Given the description of an element on the screen output the (x, y) to click on. 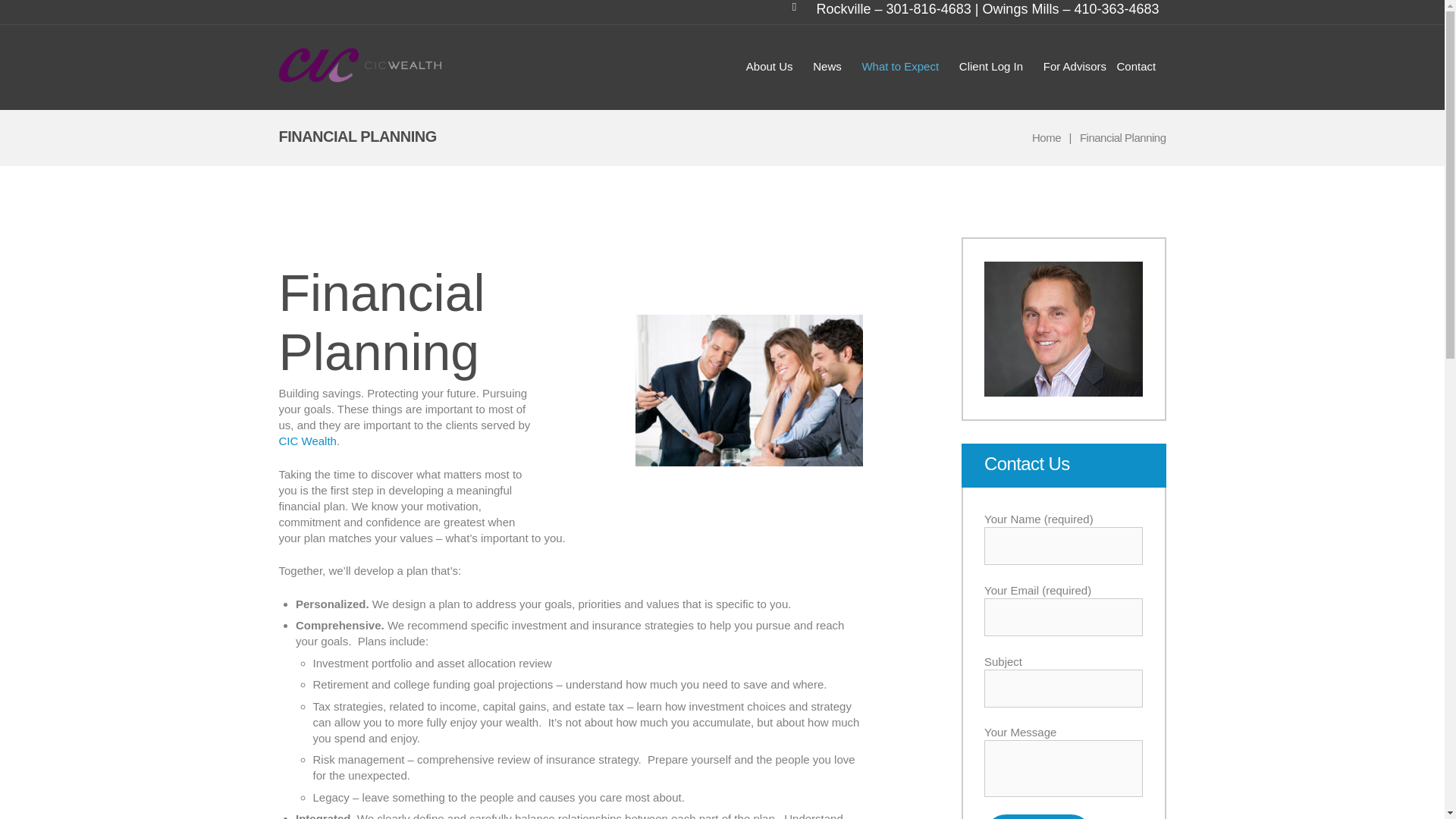
About Us (768, 66)
Client Log In (990, 66)
Contact (1136, 66)
For Advisors (1069, 66)
Send (1038, 816)
What to Expect (900, 66)
